Given the description of an element on the screen output the (x, y) to click on. 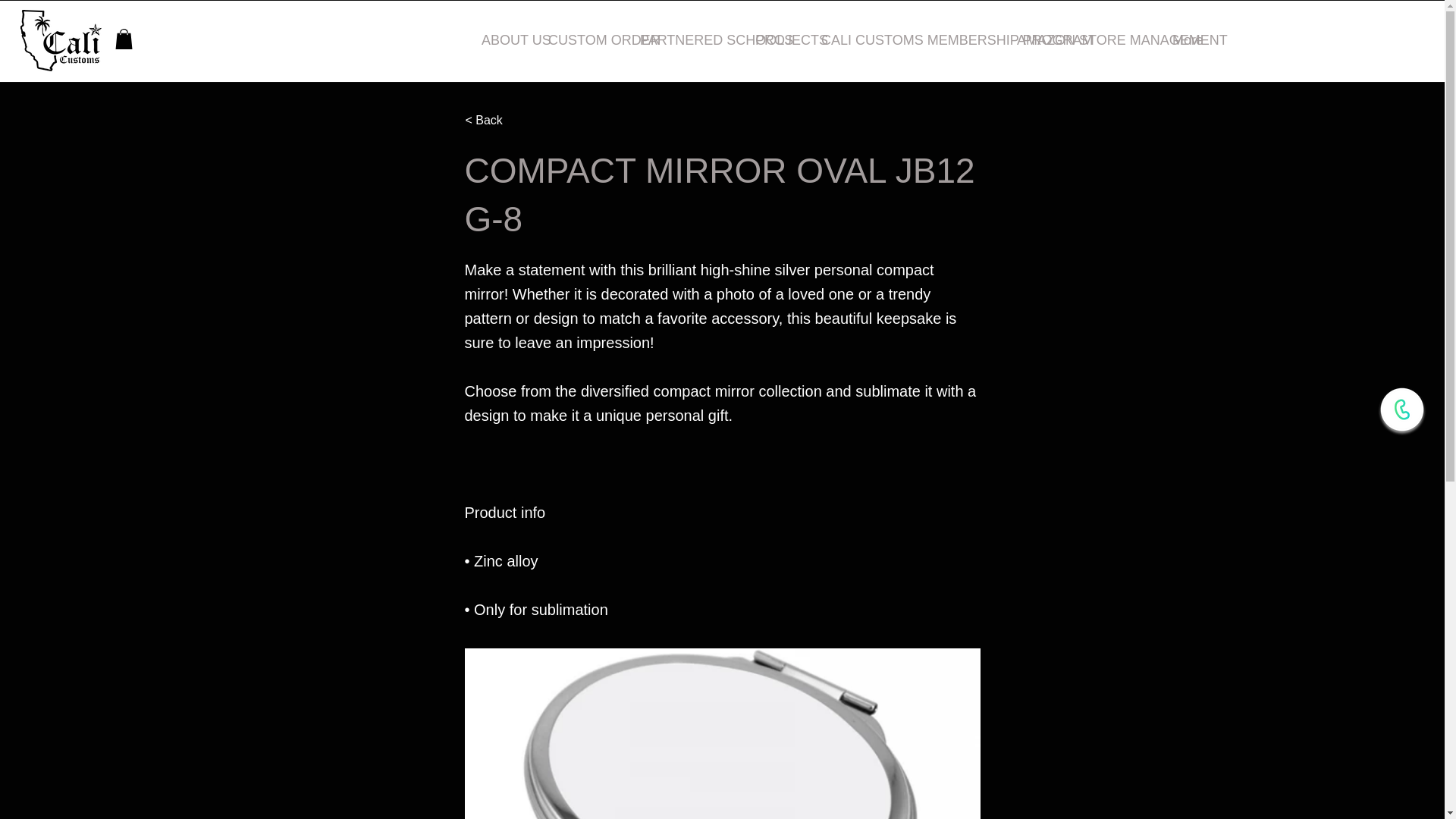
CUSTOM ORDER (582, 40)
WhatsApp Now (1401, 409)
ABOUT US (503, 40)
PROJECTS (776, 40)
CALI CUSTOMS MEMBERSHIP PROGRAM (907, 40)
AMAZON STORE MANAGEMENT (1083, 40)
COMPACT MIRROR OVAL JB12 G-8.webp (721, 733)
PARTNERED SCHOOLS (686, 40)
